Given the description of an element on the screen output the (x, y) to click on. 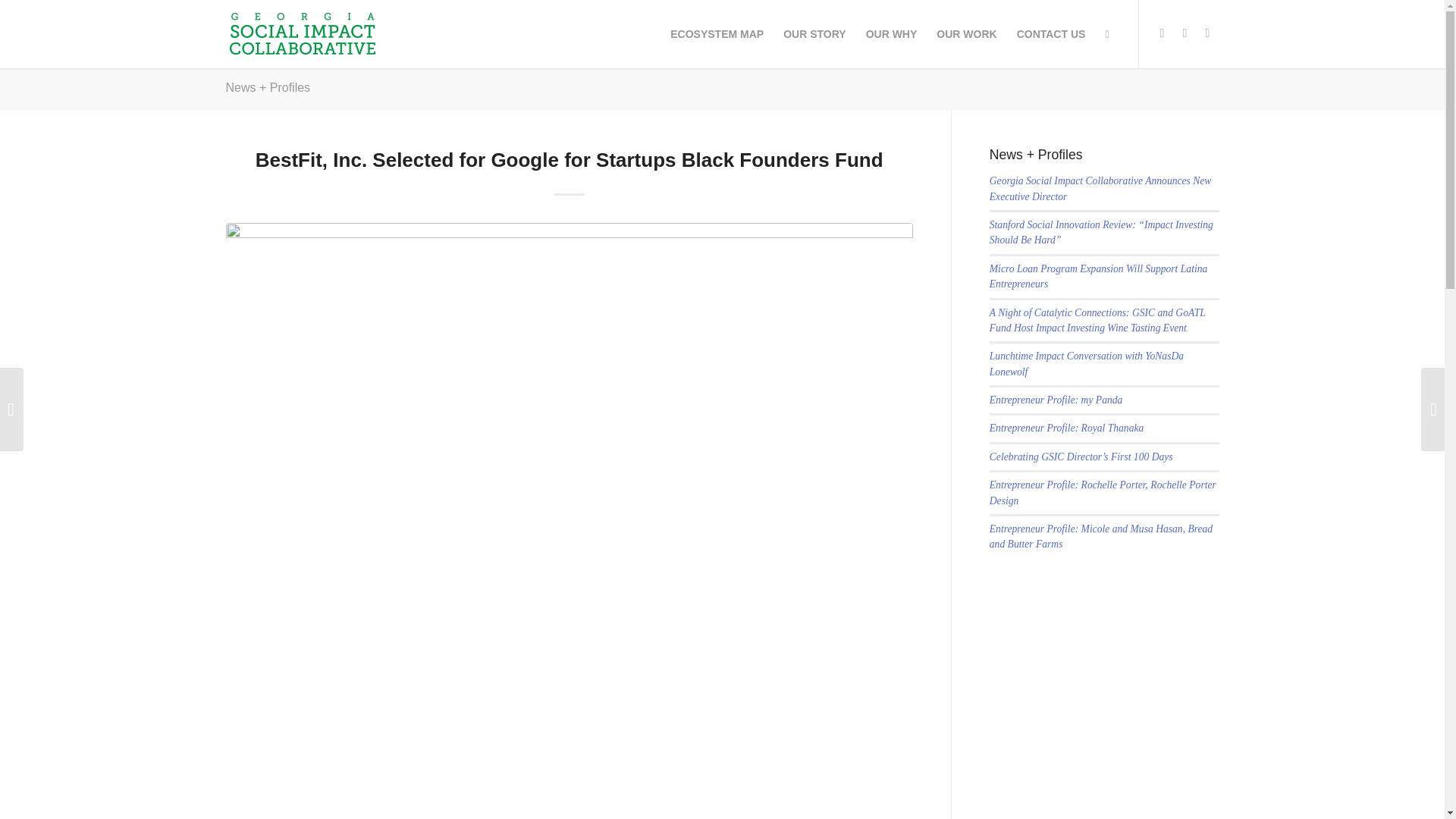
OUR WORK (966, 33)
gsic (301, 33)
Lunchtime Impact Conversation with YoNasDa Lonewolf (1086, 363)
LinkedIn (1208, 33)
Facebook (1162, 33)
gsic (301, 33)
OUR STORY (814, 33)
Entrepreneur Profile: Royal Thanaka (1067, 428)
